Given the description of an element on the screen output the (x, y) to click on. 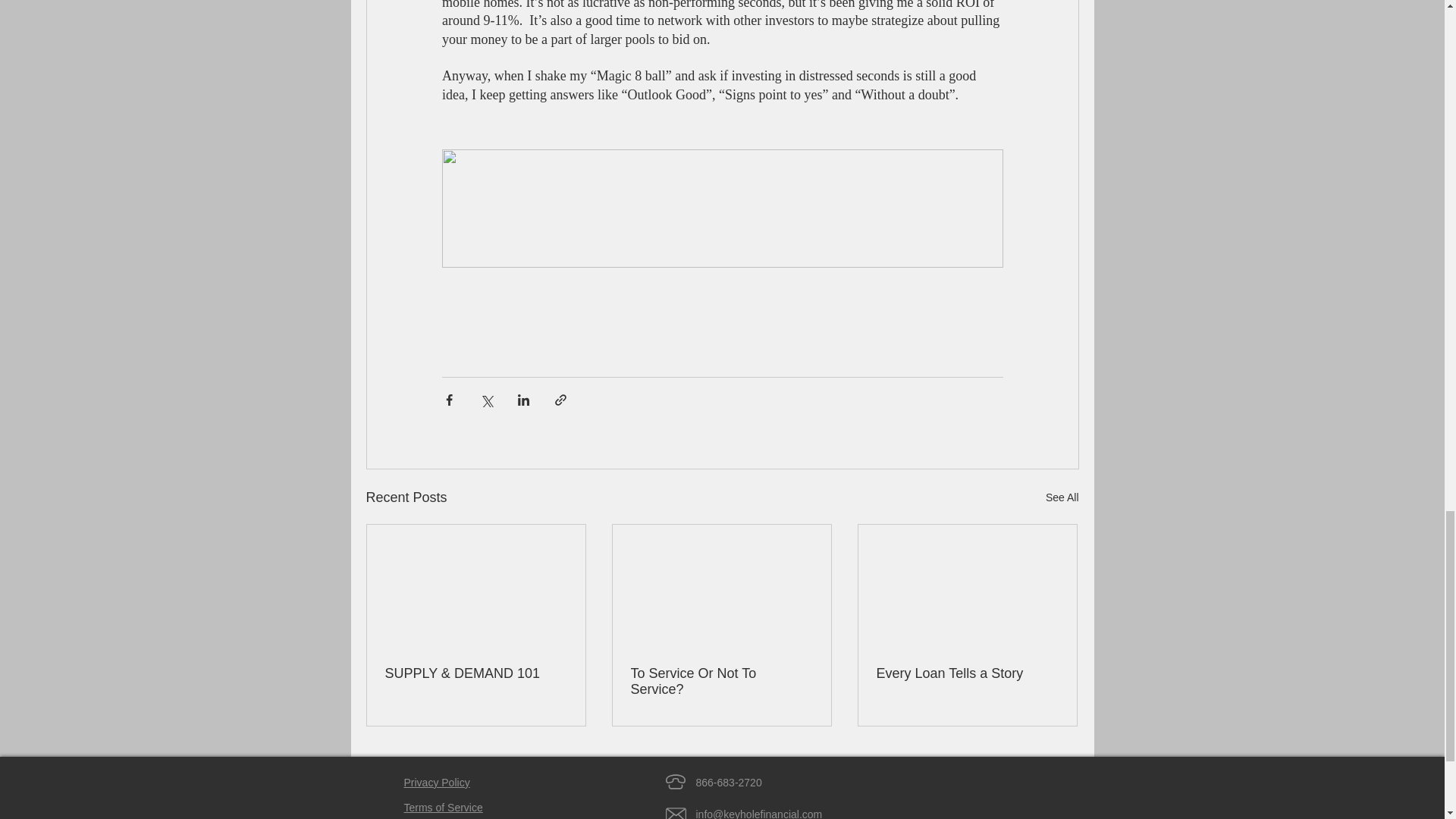
Privacy Policy (435, 782)
To Service Or Not To Service? (721, 681)
Terms of Service (442, 808)
Every Loan Tells a Story (967, 673)
See All (1061, 497)
